Given the description of an element on the screen output the (x, y) to click on. 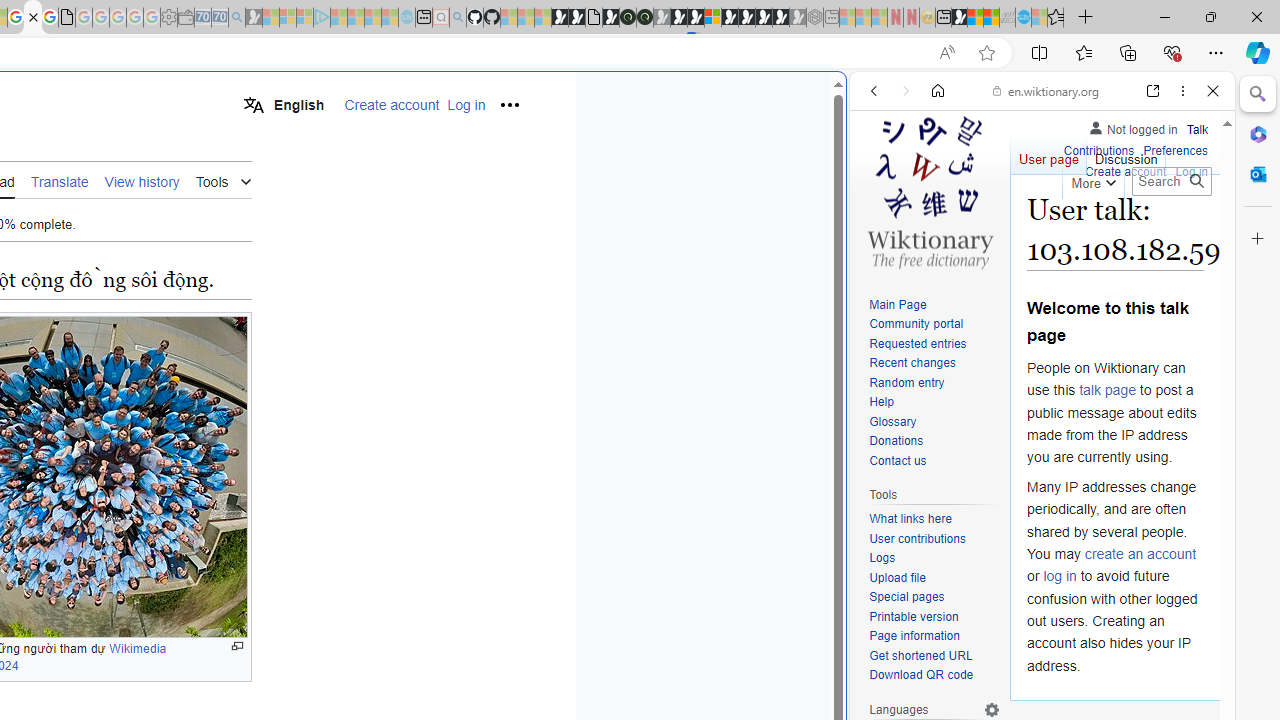
User contributions (917, 538)
English (283, 104)
User contributions (934, 539)
Discussion (1125, 154)
Frequently visited (418, 265)
